Given the description of an element on the screen output the (x, y) to click on. 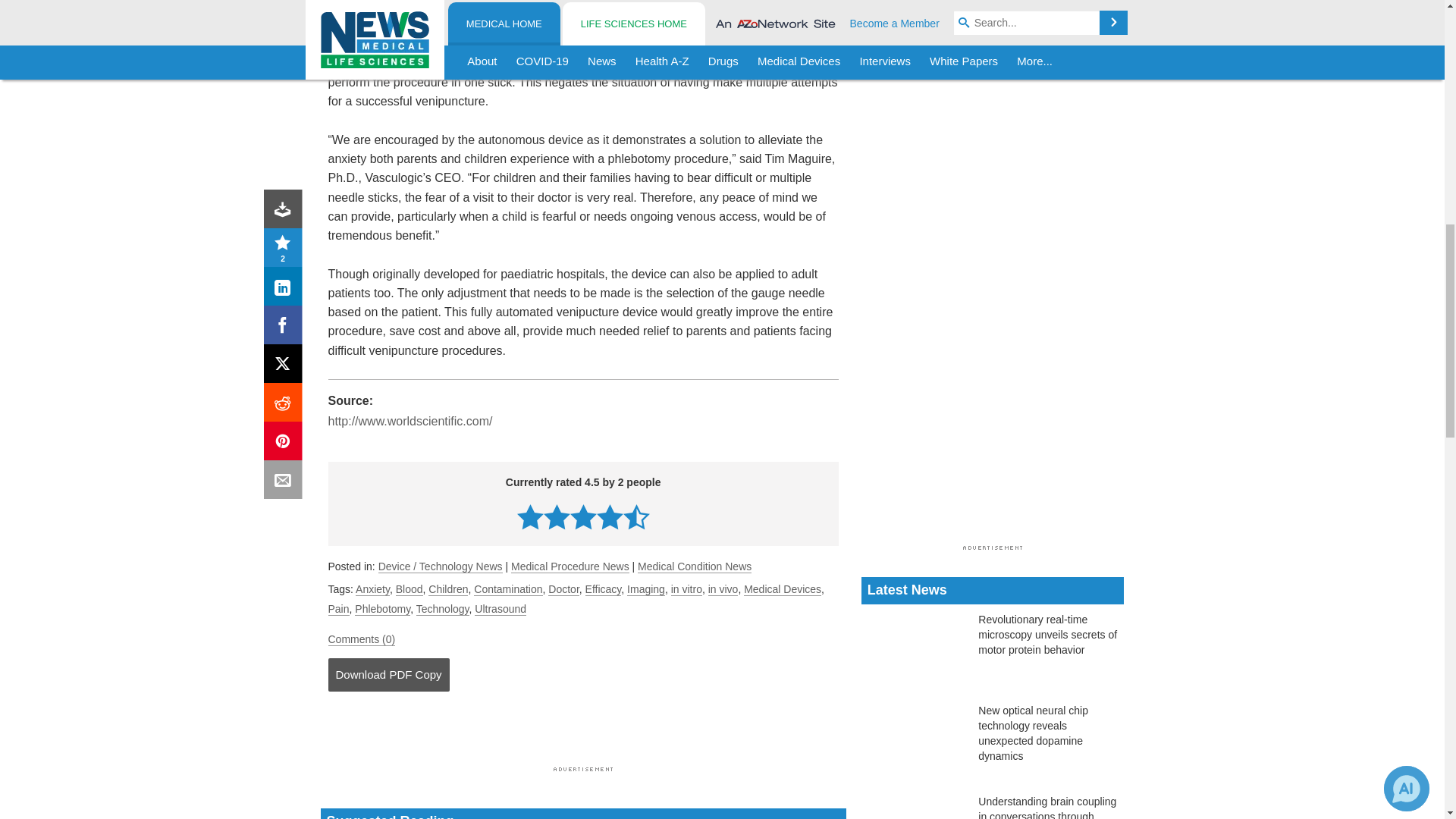
Rate this 5 stars out of 5 (636, 516)
Rate this 4 stars out of 5 (609, 516)
